Given the description of an element on the screen output the (x, y) to click on. 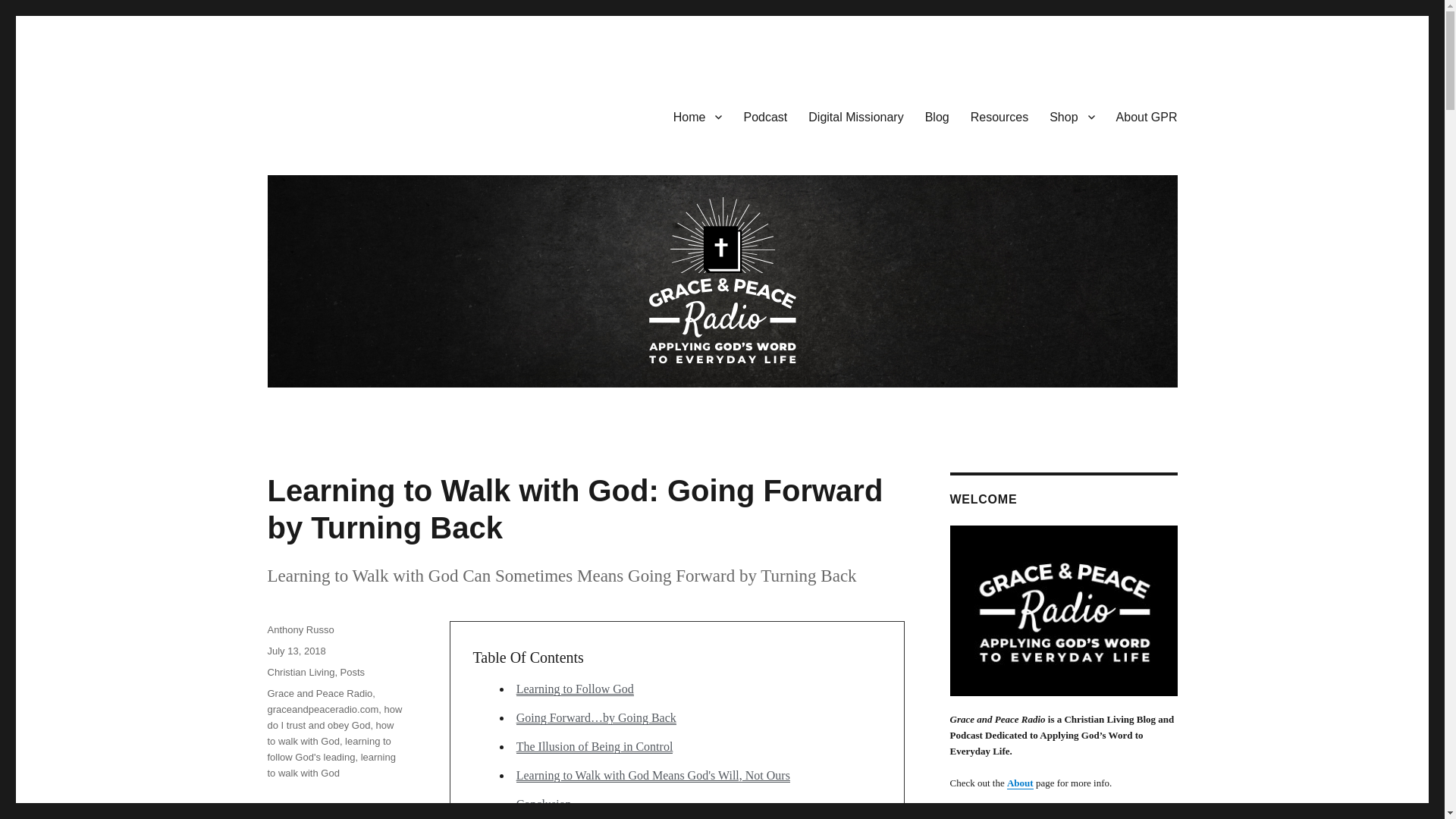
Christian Living (300, 672)
Conclusion (544, 803)
July 13, 2018 (295, 650)
Posts (352, 672)
Learning to Walk with God: Going Forward by Turning Back (574, 509)
Shop (1072, 116)
Digital Missionary (855, 116)
Grace and Peace Radio (384, 114)
Home (697, 116)
The Illusion of Being in Control (594, 746)
Anthony Russo (299, 629)
Grace and Peace Radio (319, 693)
Blog (936, 116)
Resources (999, 116)
Learning to Walk with God Means God's Will, Not Ours (653, 775)
